Given the description of an element on the screen output the (x, y) to click on. 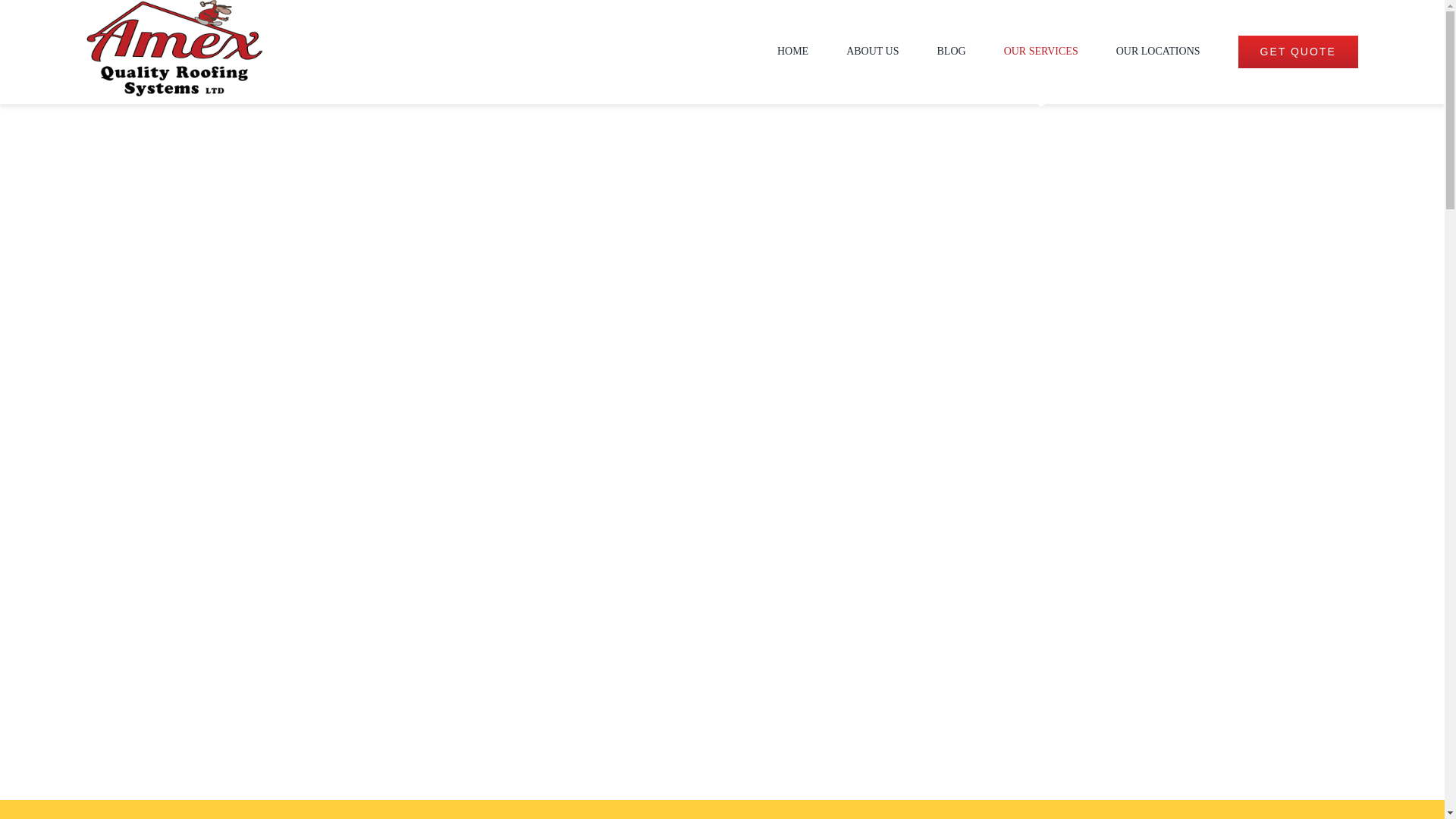
BLOG Element type: text (951, 51)
GET QUOTE Element type: text (1298, 51)
OUR SERVICES Element type: text (1041, 51)
HOME Element type: text (792, 51)
OUR LOCATIONS Element type: text (1158, 51)
ABOUT US Element type: text (872, 51)
